Given the description of an element on the screen output the (x, y) to click on. 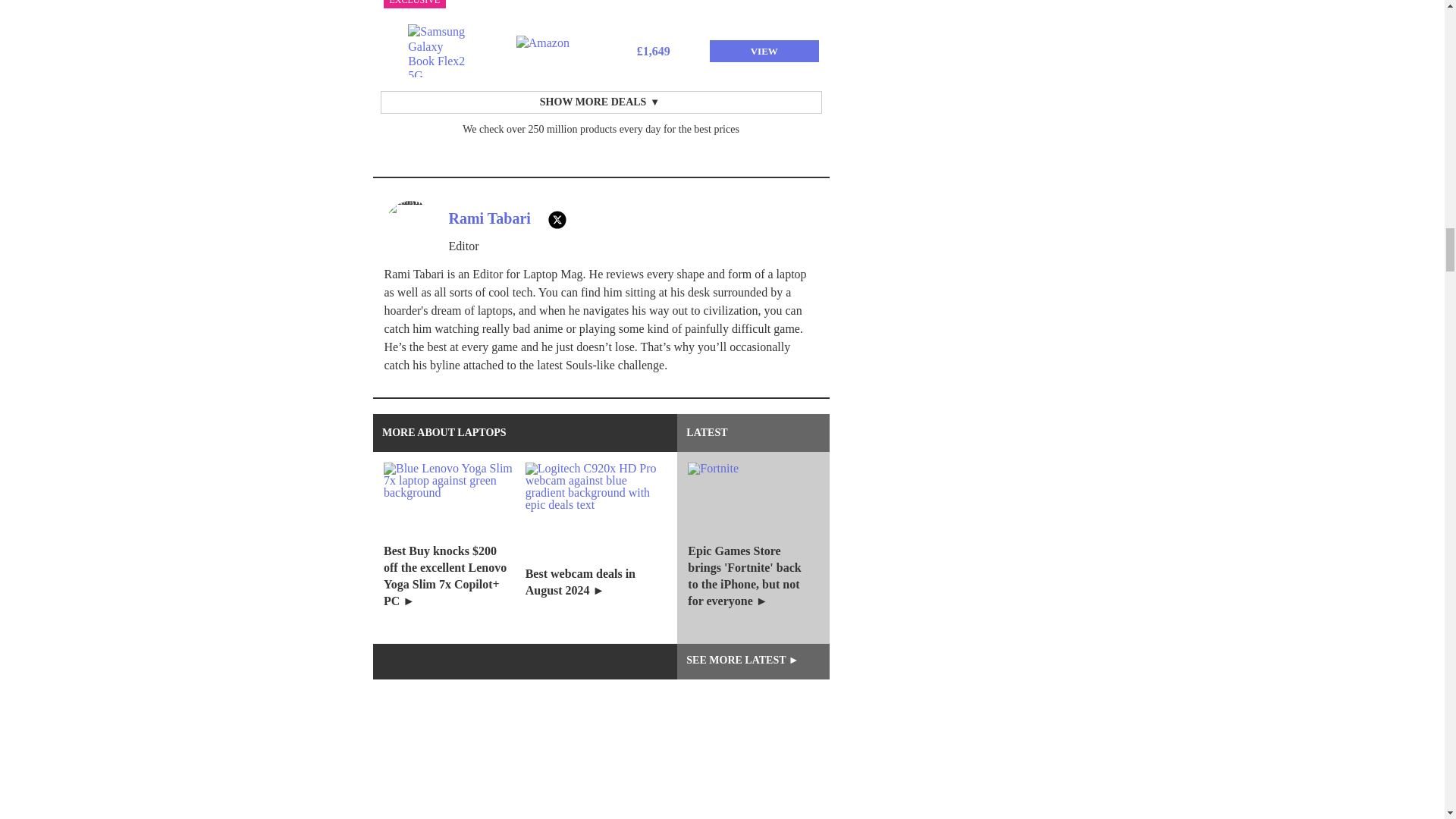
Amazon (546, 51)
Samsung Galaxy Book Flex2 5G (437, 50)
Exclusive (415, 4)
